Given the description of an element on the screen output the (x, y) to click on. 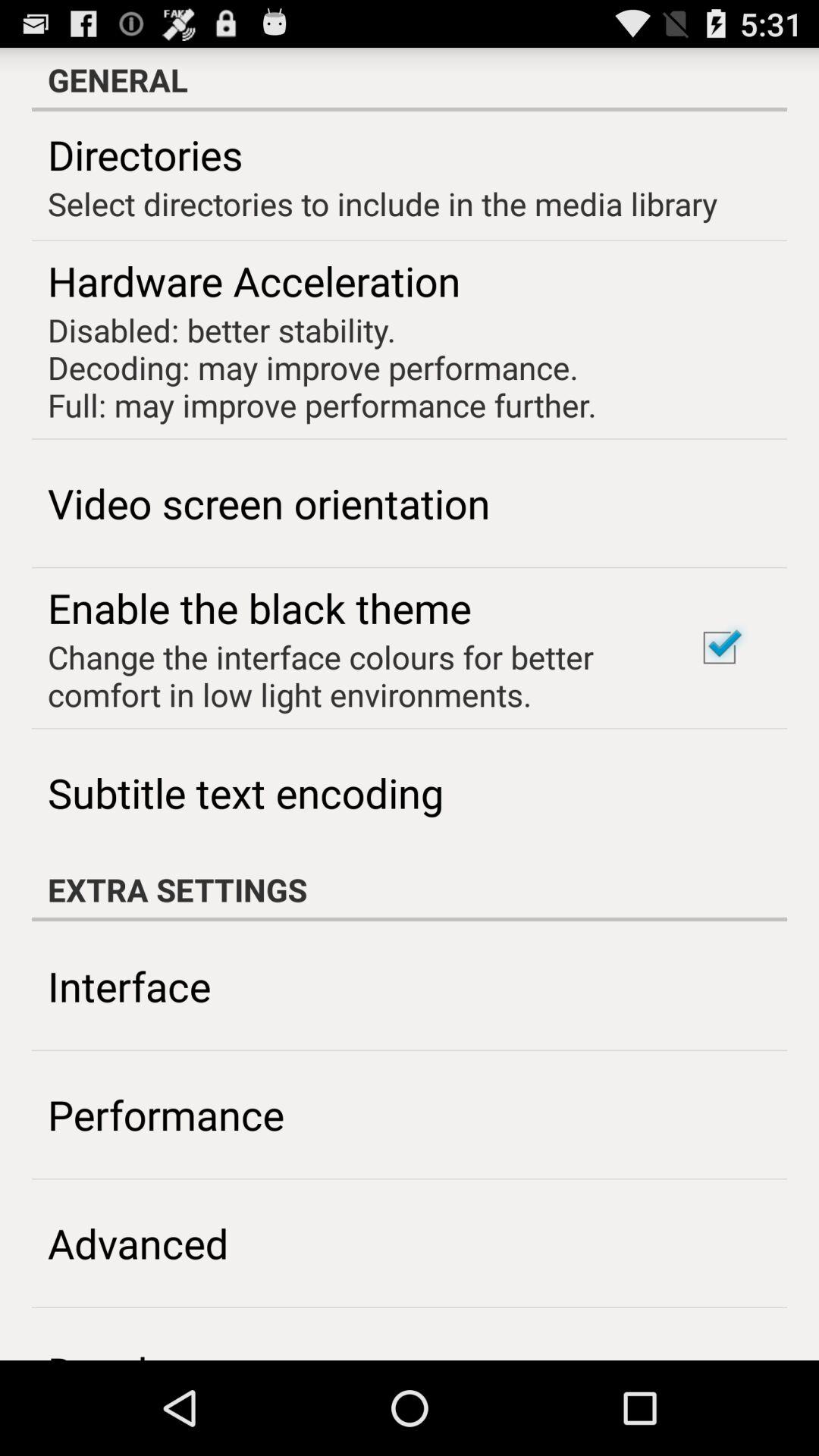
press item on the right (719, 647)
